Given the description of an element on the screen output the (x, y) to click on. 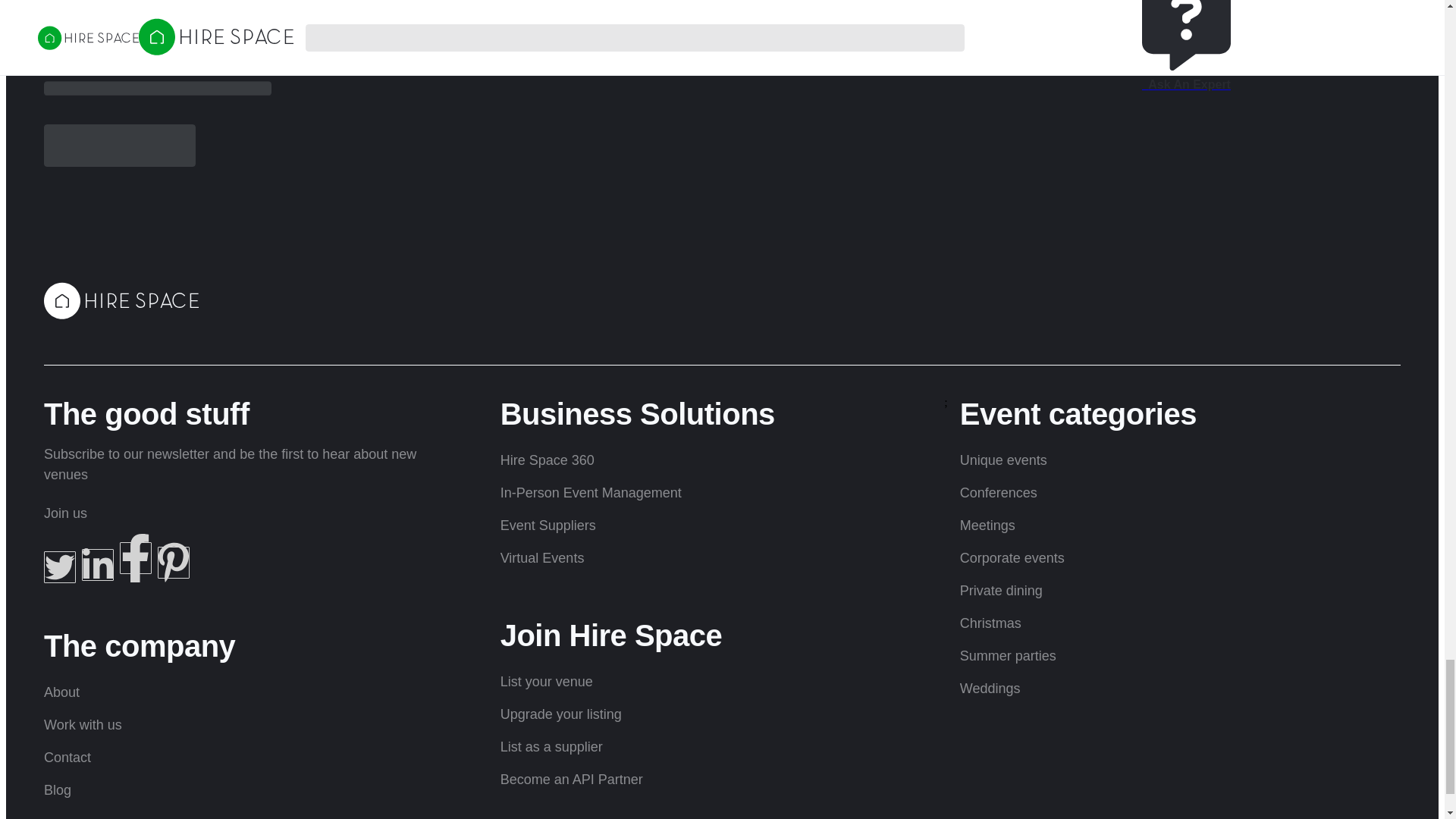
Hire Space (120, 300)
